Given the description of an element on the screen output the (x, y) to click on. 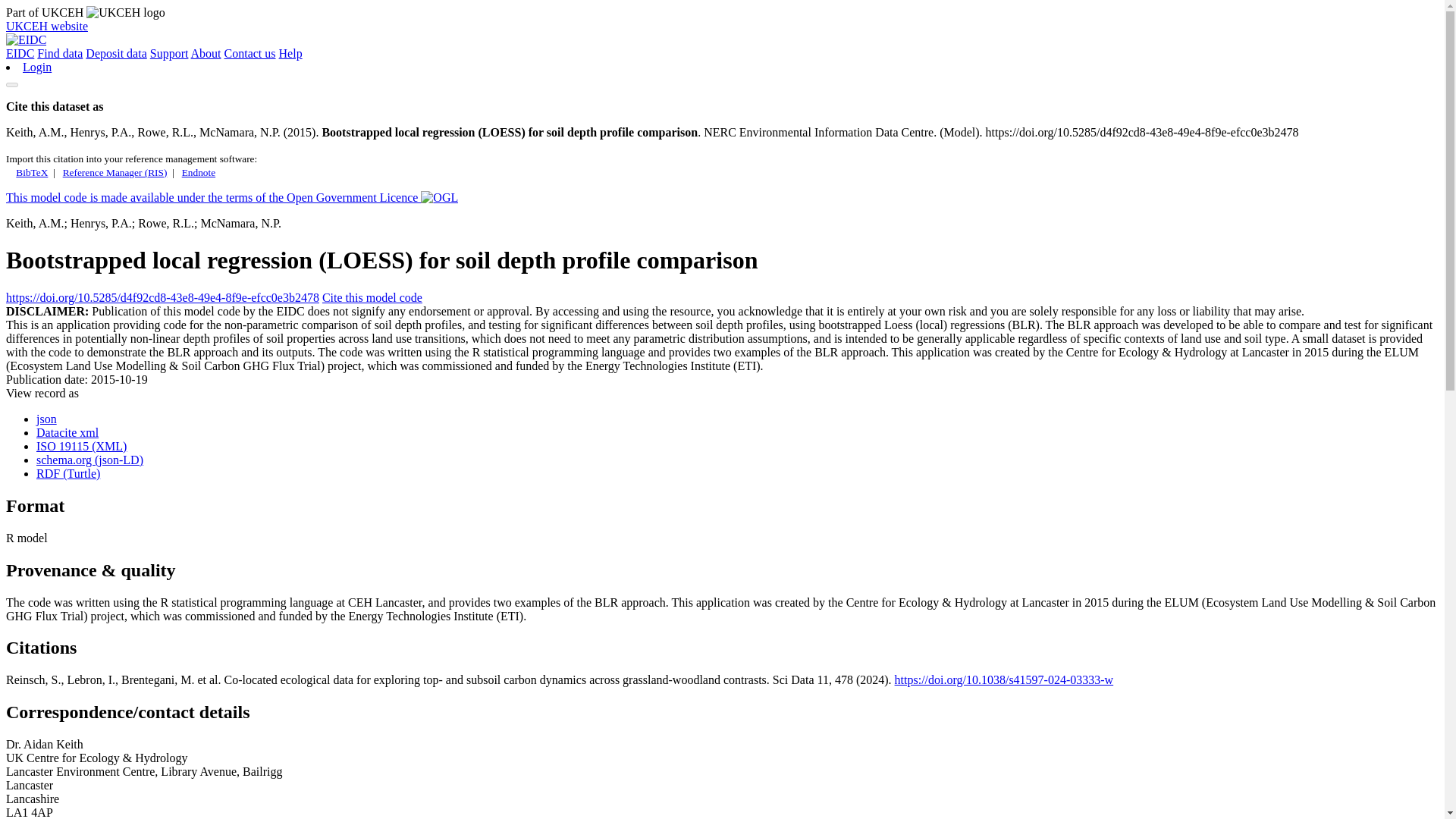
About (205, 52)
UKCEH website (46, 25)
Contact us (250, 52)
Find data (59, 52)
UKCEH (125, 12)
Support (169, 52)
Endnote (198, 172)
Deposit data (116, 52)
json (46, 418)
EIDC (19, 52)
BibTeX (32, 172)
Datacite xml (67, 431)
Help (290, 52)
Login (36, 66)
